Given the description of an element on the screen output the (x, y) to click on. 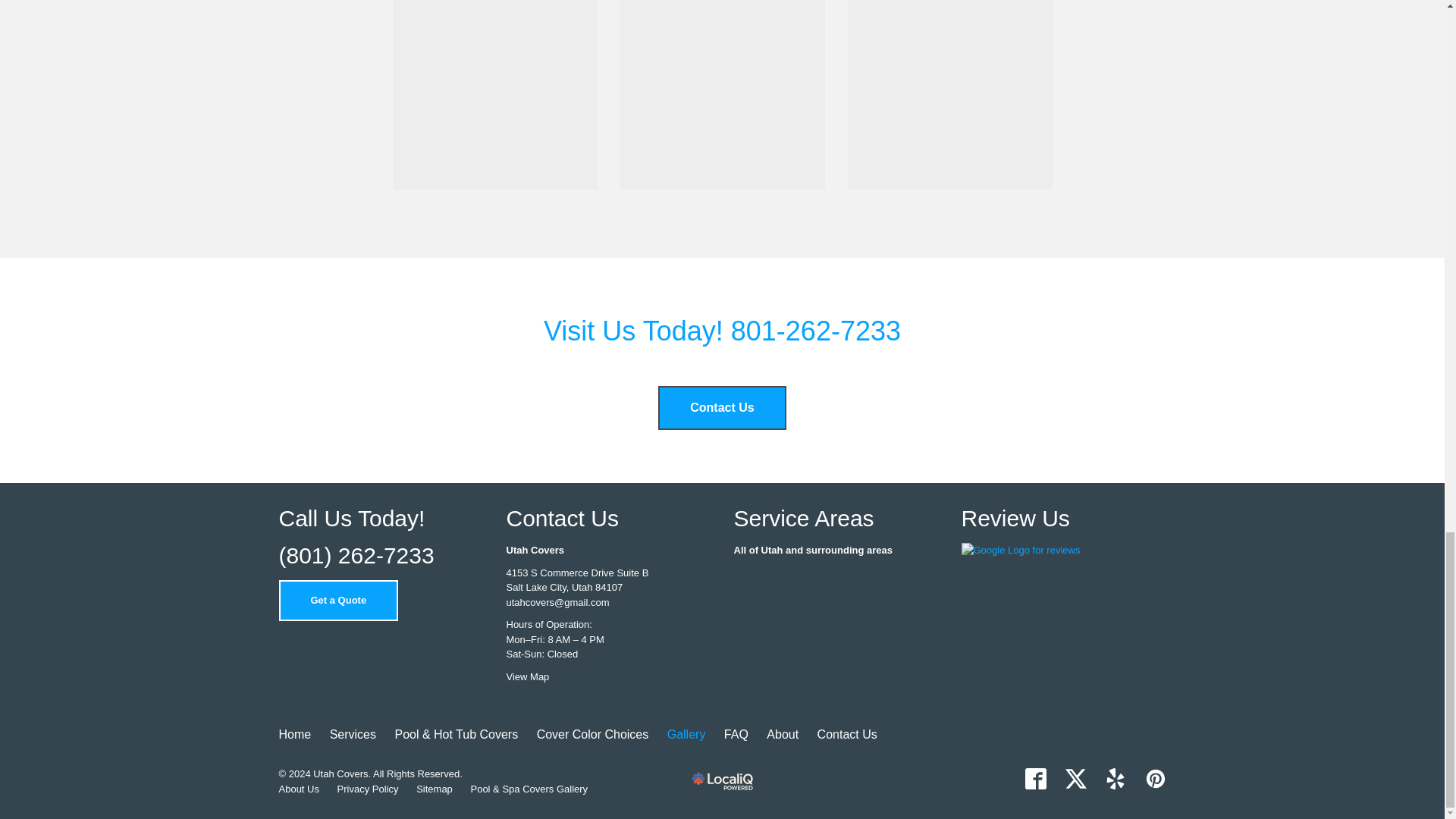
twitter (1075, 778)
facebook (1035, 778)
yelp (1115, 778)
pinterest (1155, 778)
